Given the description of an element on the screen output the (x, y) to click on. 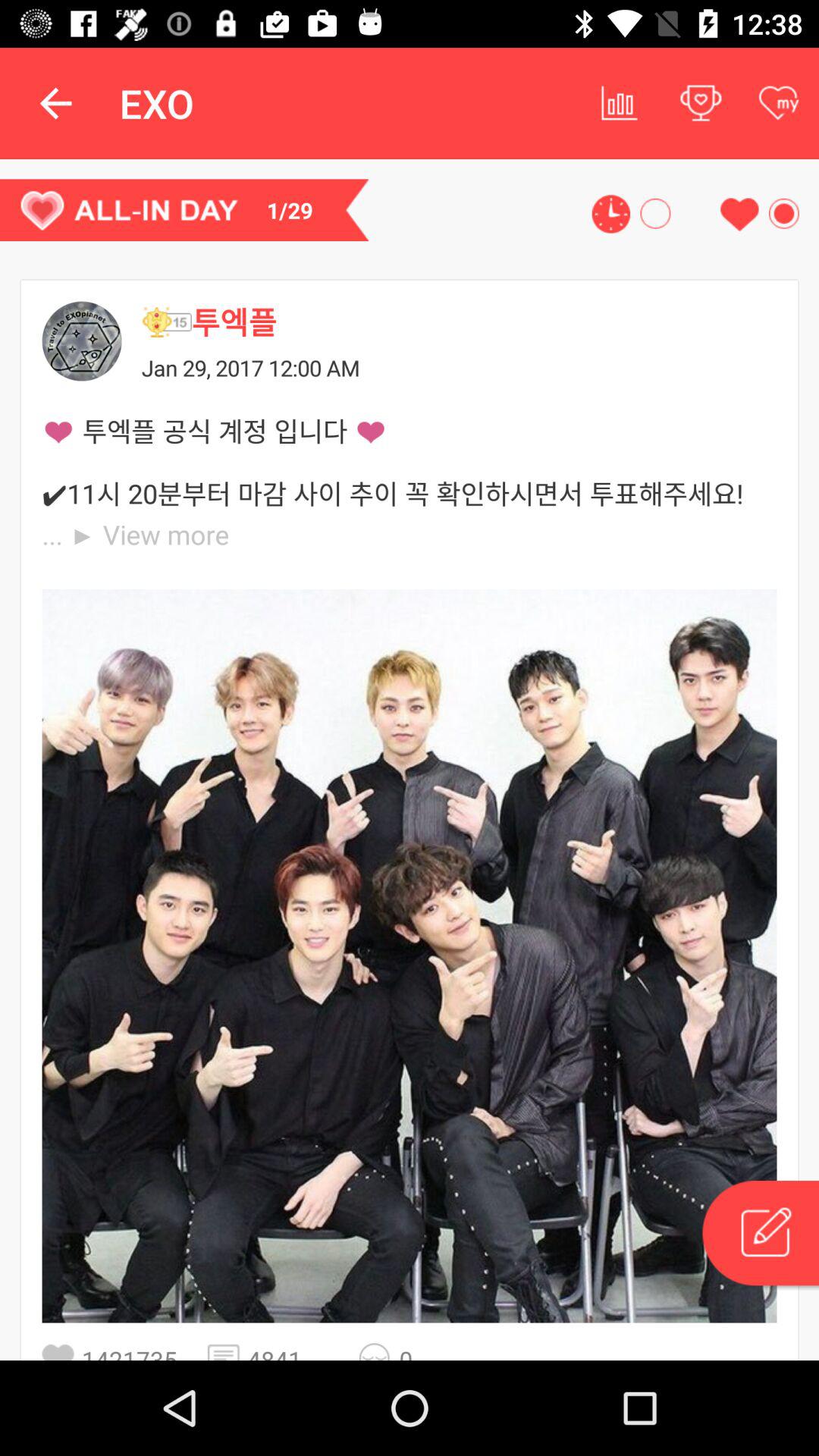
select image (409, 955)
